Given the description of an element on the screen output the (x, y) to click on. 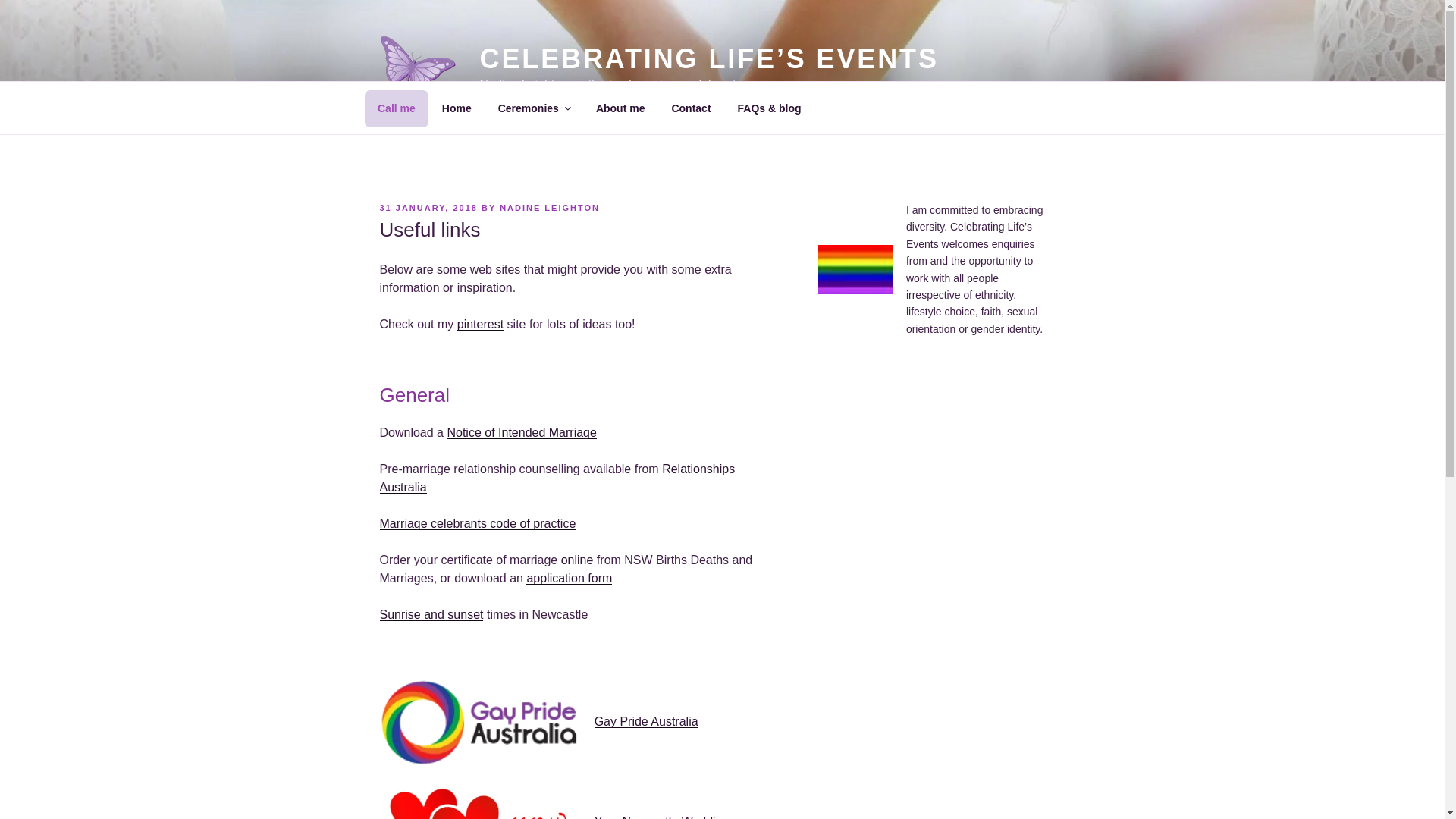
NADINE LEIGHTON Element type: text (549, 207)
About me Element type: text (620, 107)
Sunrise and sunset Element type: text (431, 614)
Notice of Intended Marriage Element type: text (521, 432)
Gay Pride Australia Element type: text (646, 721)
application form Element type: text (568, 577)
Contact Element type: text (691, 107)
Relationships Australia Element type: text (556, 477)
Marriage celebrants code of practice Element type: text (477, 523)
online Element type: text (577, 559)
Call me Element type: text (396, 107)
Home Element type: text (456, 107)
Ceremonies Element type: text (533, 107)
FAQs & blog Element type: text (769, 107)
pinterest Element type: text (480, 323)
31 JANUARY, 2018 Element type: text (427, 207)
